Given the description of an element on the screen output the (x, y) to click on. 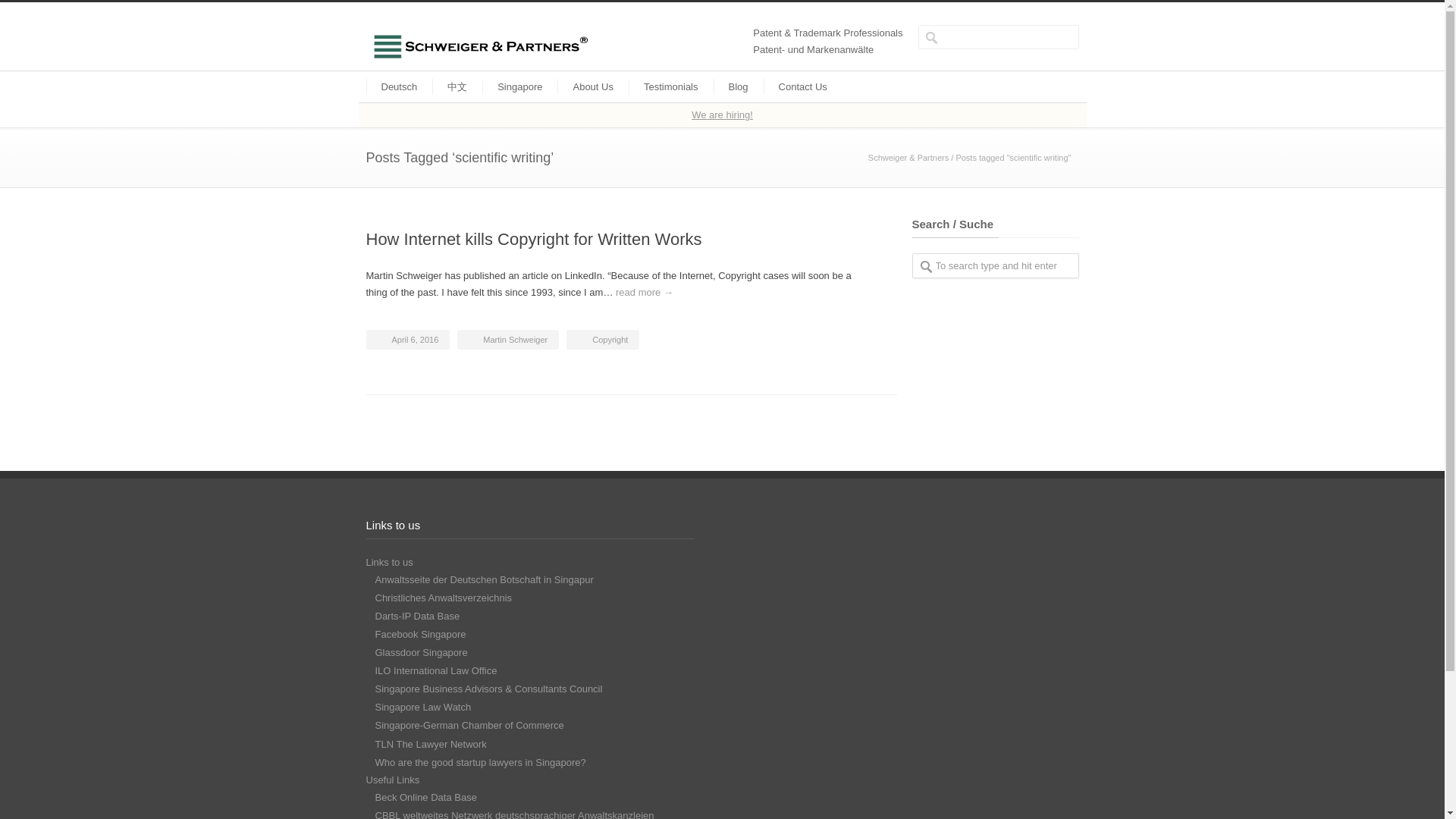
Who are the good startup lawyers in Singapore? (479, 762)
Copyright (609, 338)
Anwaltsseite der Deutschen Botschaft in Singapur (483, 579)
Permalink to How Internet kills Copyright for Written Works (533, 239)
About Us (592, 86)
Christliches Anwaltsverzeichnis (443, 597)
Singapore-German Chamber of Commerce (468, 725)
Testimonials (670, 86)
Blog (737, 86)
We are hiring! (721, 114)
View all posts by Martin Schweiger (515, 338)
To search type and hit enter (994, 265)
Martin Schweiger (515, 338)
ILO International Law Office (435, 670)
Beck Online Data Base (425, 797)
